Given the description of an element on the screen output the (x, y) to click on. 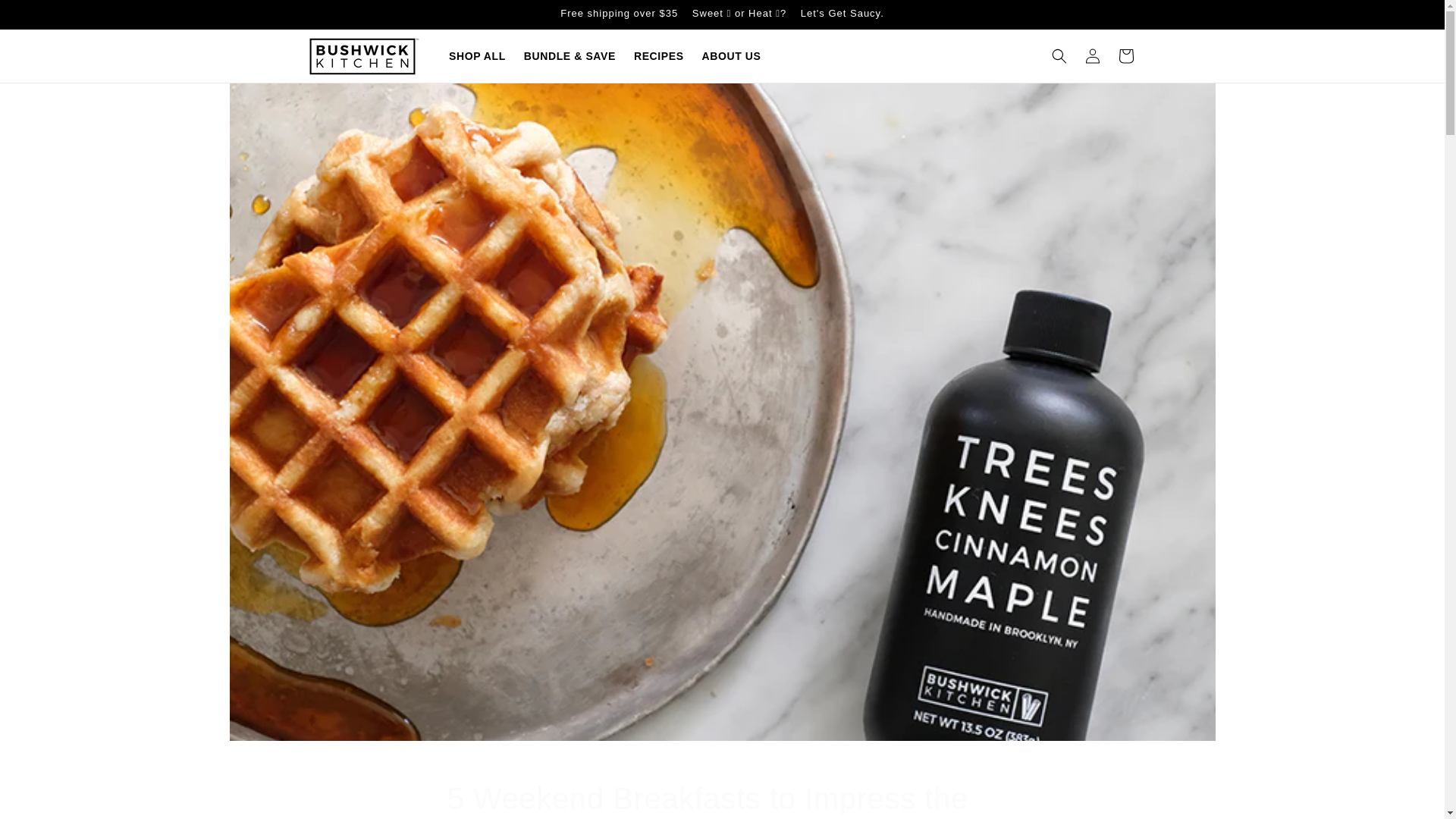
Log in (1091, 55)
Cart (1124, 55)
Skip to content (45, 17)
RECIPES (658, 56)
SHOP ALL (477, 56)
ABOUT US (731, 56)
